Given the description of an element on the screen output the (x, y) to click on. 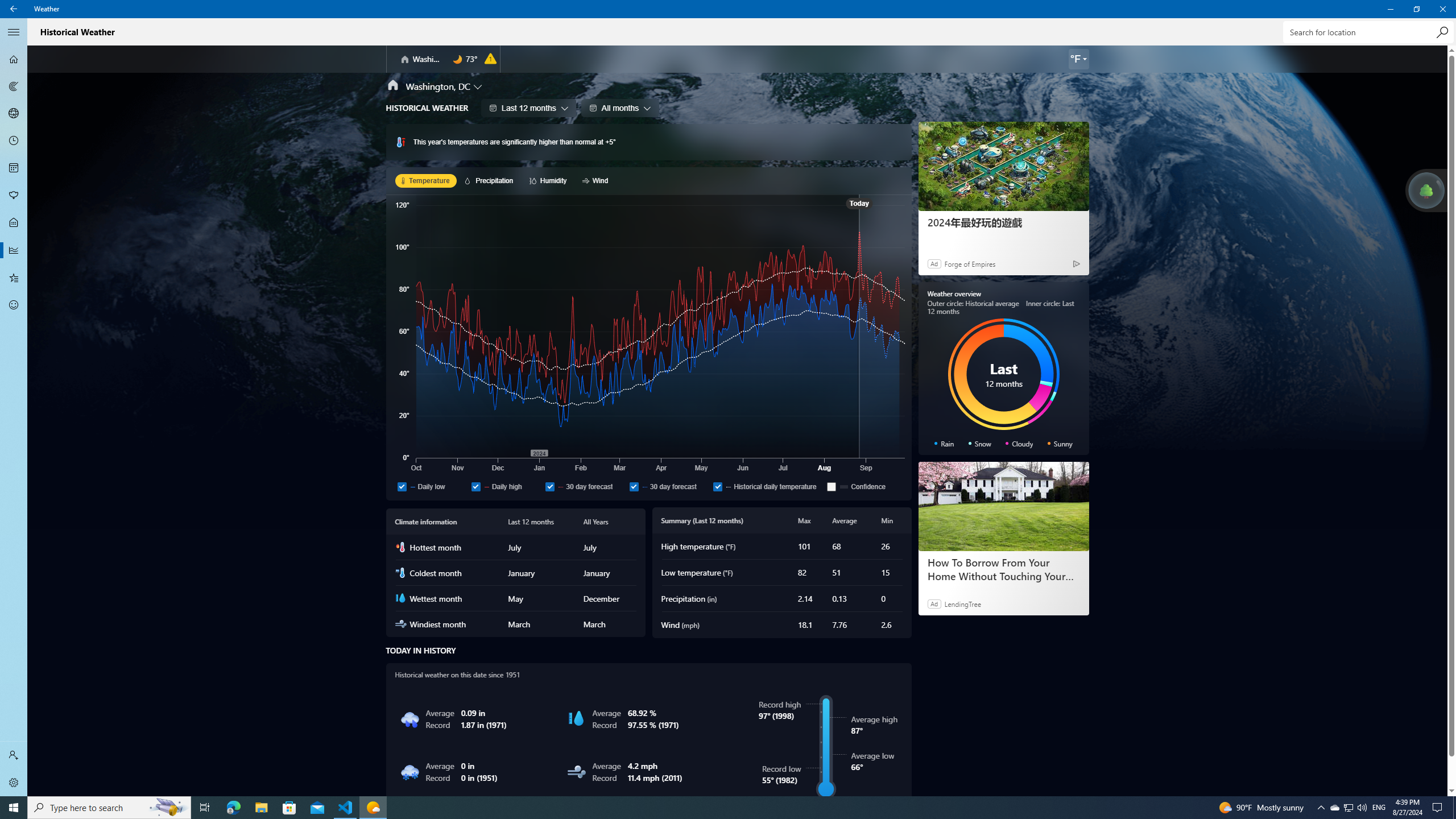
Minimize Weather (1390, 9)
Life - Not Selected (13, 222)
Pollen - Not Selected (13, 195)
Sign in (13, 755)
Back (13, 9)
3D Maps - Not Selected (13, 113)
Hourly Forecast - Not Selected (13, 140)
Search (1442, 31)
Weather - 1 running window (373, 807)
Forecast - Not Selected (13, 58)
Search for location (1367, 32)
